Given the description of an element on the screen output the (x, y) to click on. 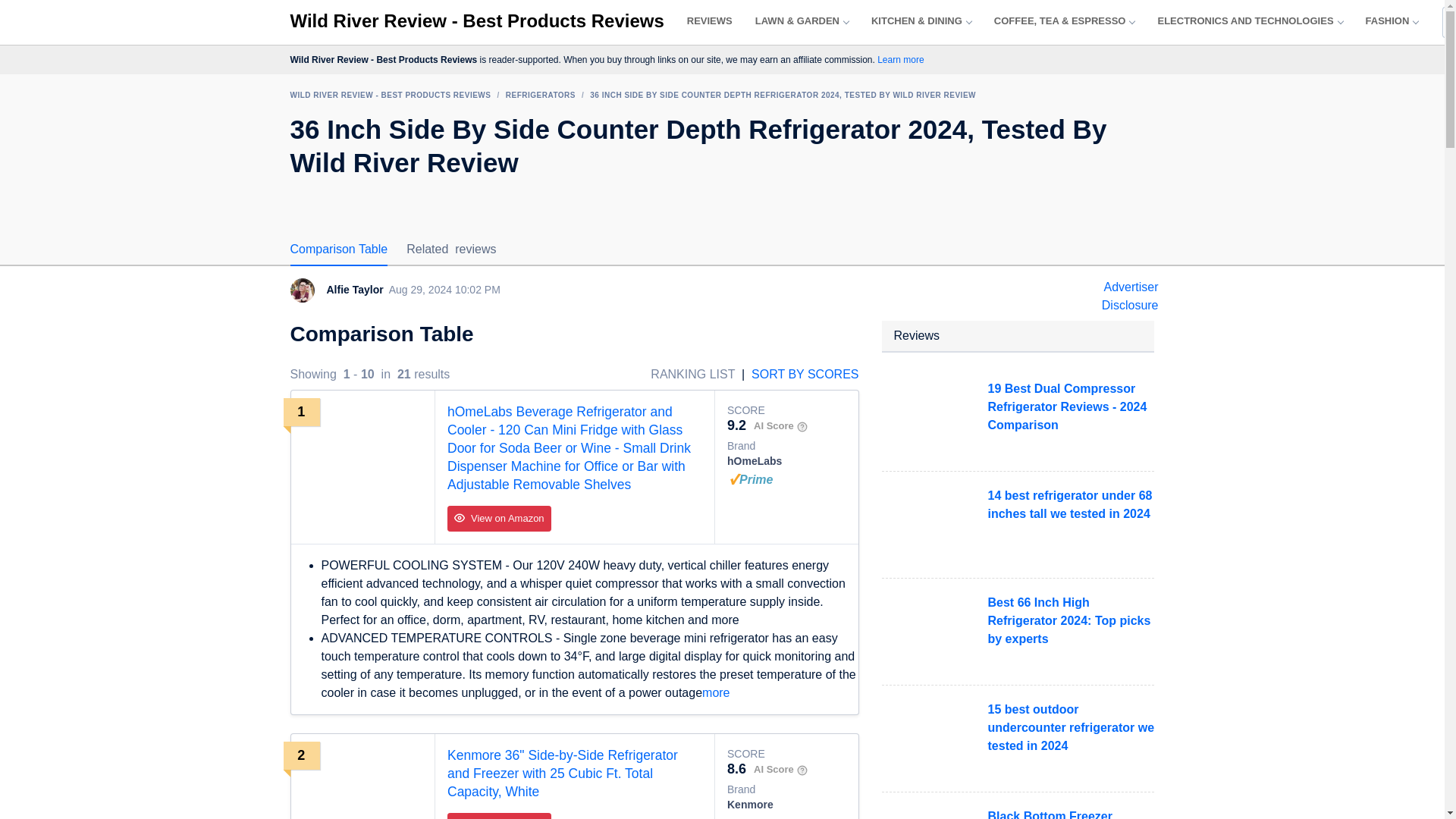
Comparison Table (338, 248)
Reviews (709, 20)
ELECTRONICS AND TECHNOLOGIES (1249, 20)
Wild River Review - Best Products Reviews (476, 21)
REVIEWS (709, 20)
Related  reviews (451, 248)
